Given the description of an element on the screen output the (x, y) to click on. 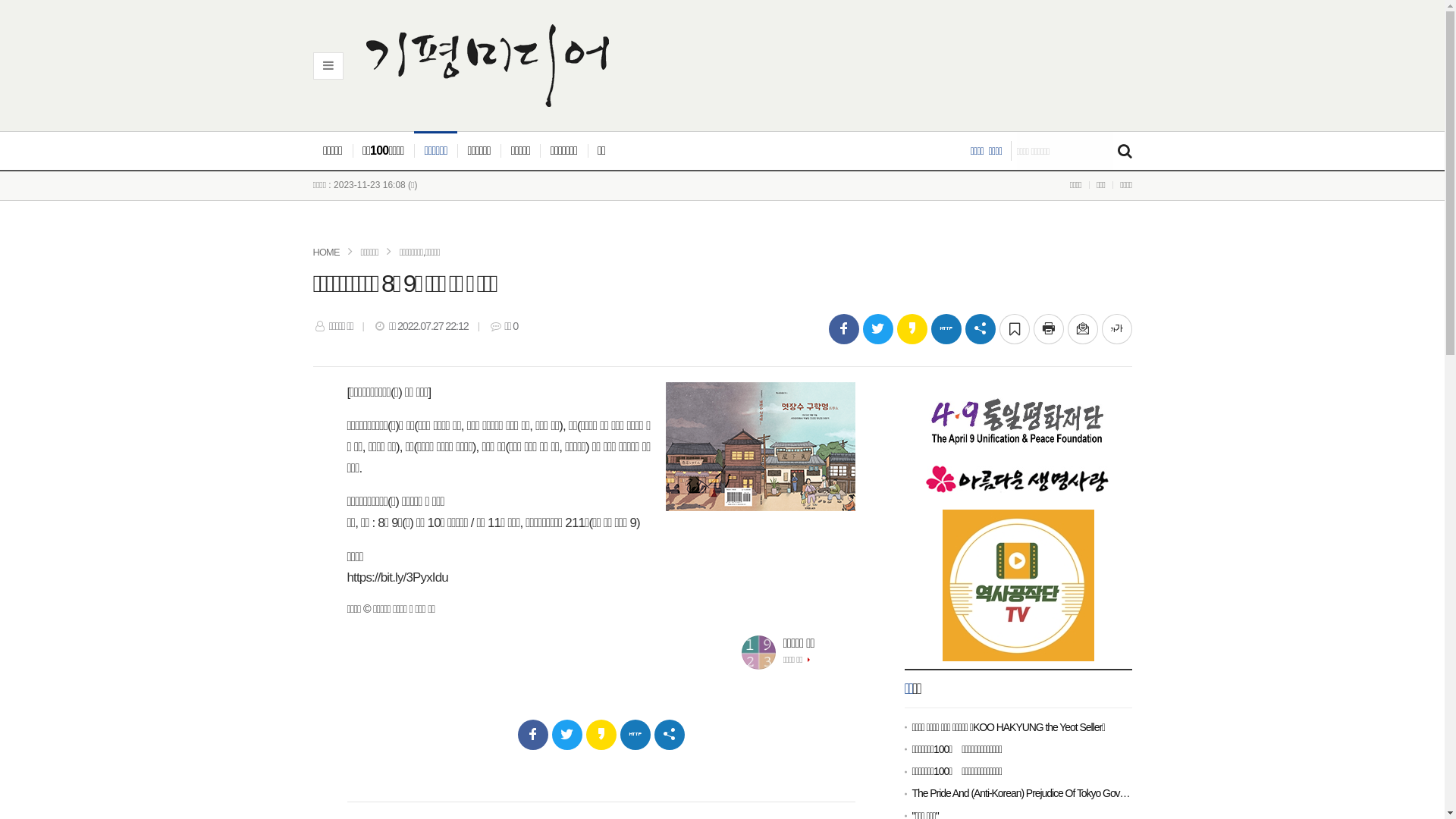
HOME Element type: text (325, 251)
